Given the description of an element on the screen output the (x, y) to click on. 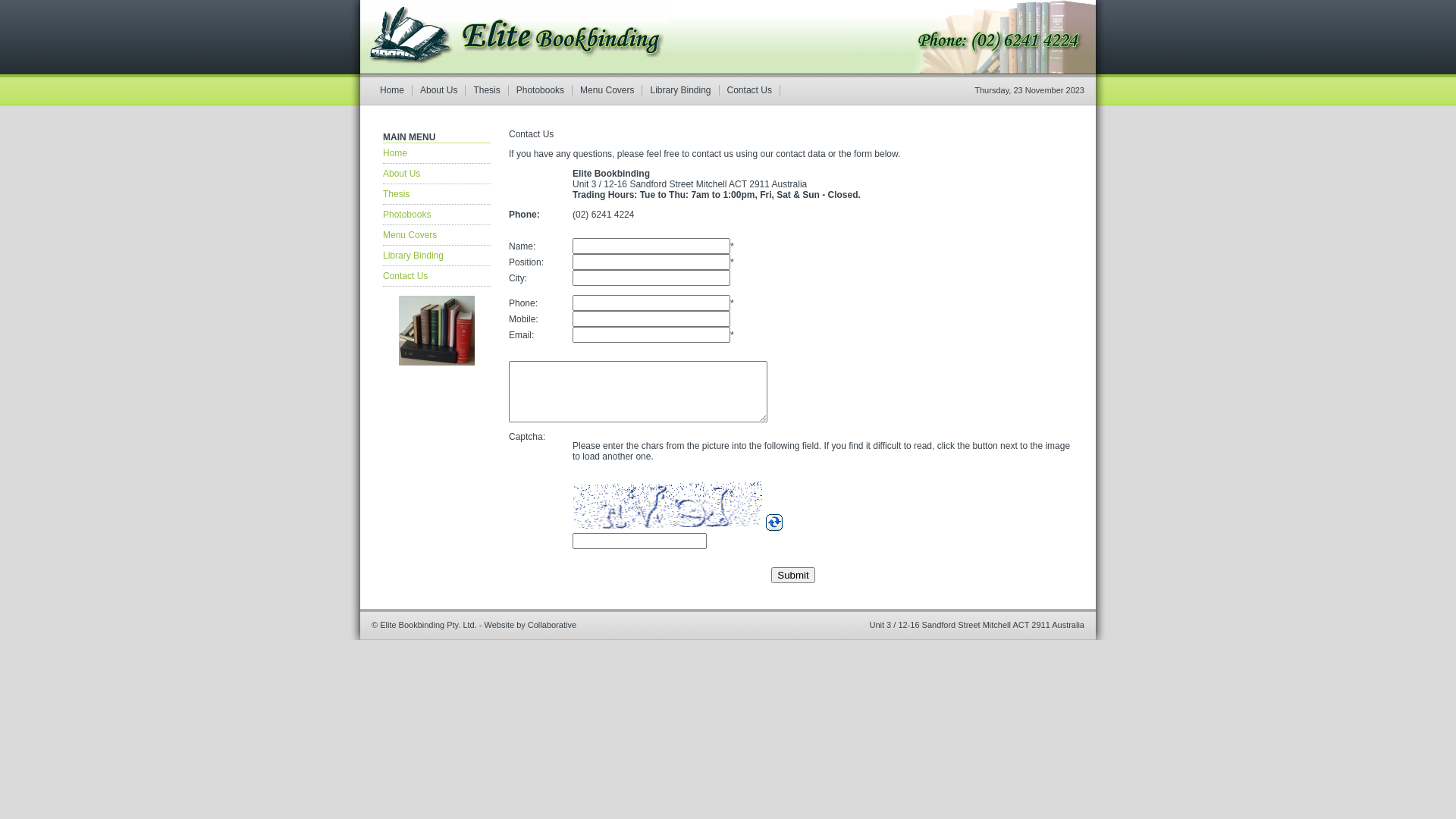
Contact Us Element type: text (749, 89)
Ask a new picture Element type: hover (772, 527)
Home Element type: text (436, 153)
Menu Covers Element type: text (436, 235)
Library Binding Element type: text (680, 89)
Home Element type: text (392, 89)
About Us Element type: text (438, 89)
Menu Covers Element type: text (607, 89)
Collaborative Element type: text (551, 624)
Photobooks Element type: text (540, 89)
Thesis Element type: text (486, 89)
Photobooks Element type: text (436, 214)
About Us Element type: text (436, 173)
Contact Us Element type: text (436, 276)
Library Binding Element type: text (436, 255)
Submit Element type: text (792, 575)
Thesis Element type: text (436, 194)
